Given the description of an element on the screen output the (x, y) to click on. 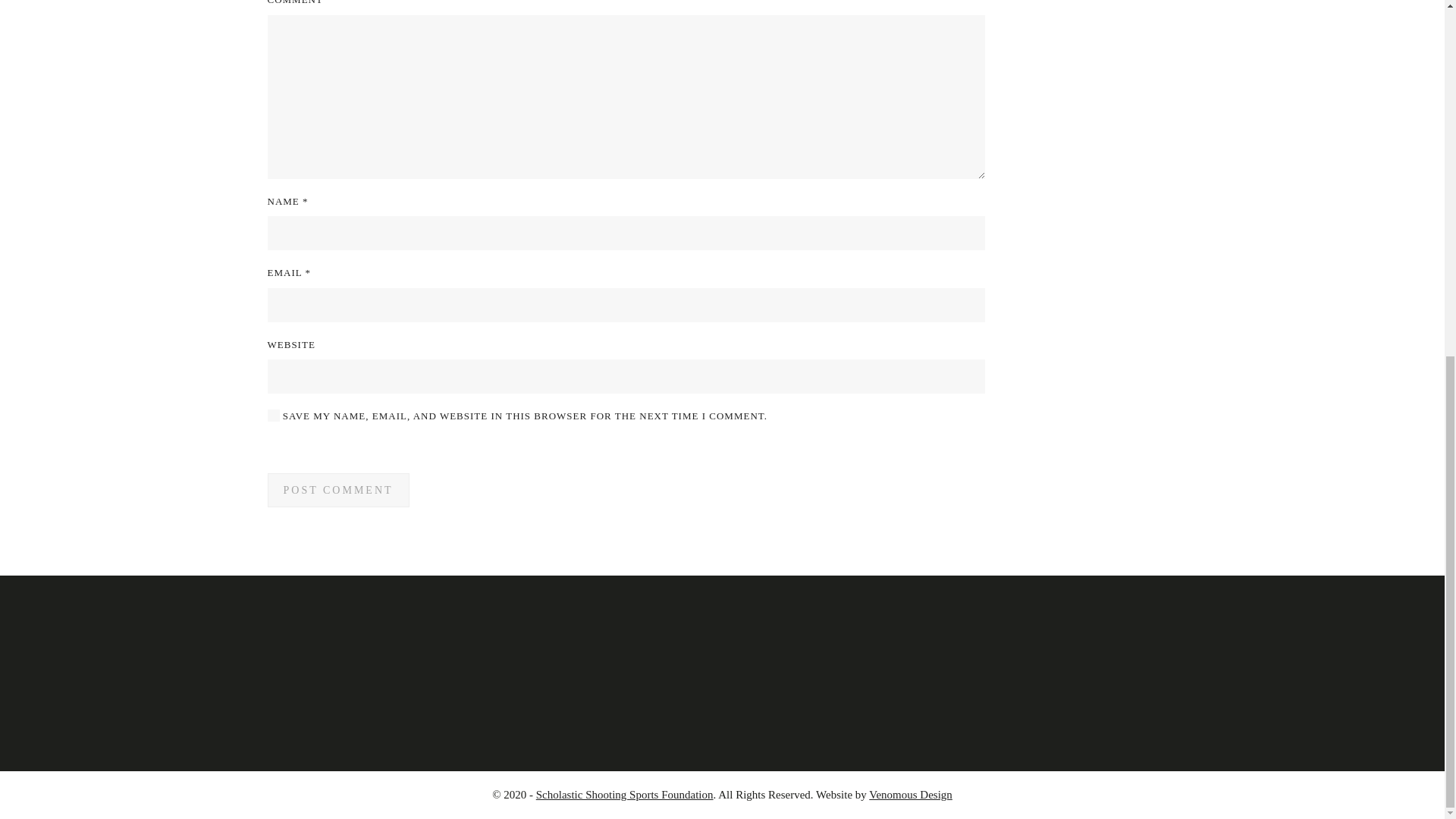
yes (272, 415)
